Given the description of an element on the screen output the (x, y) to click on. 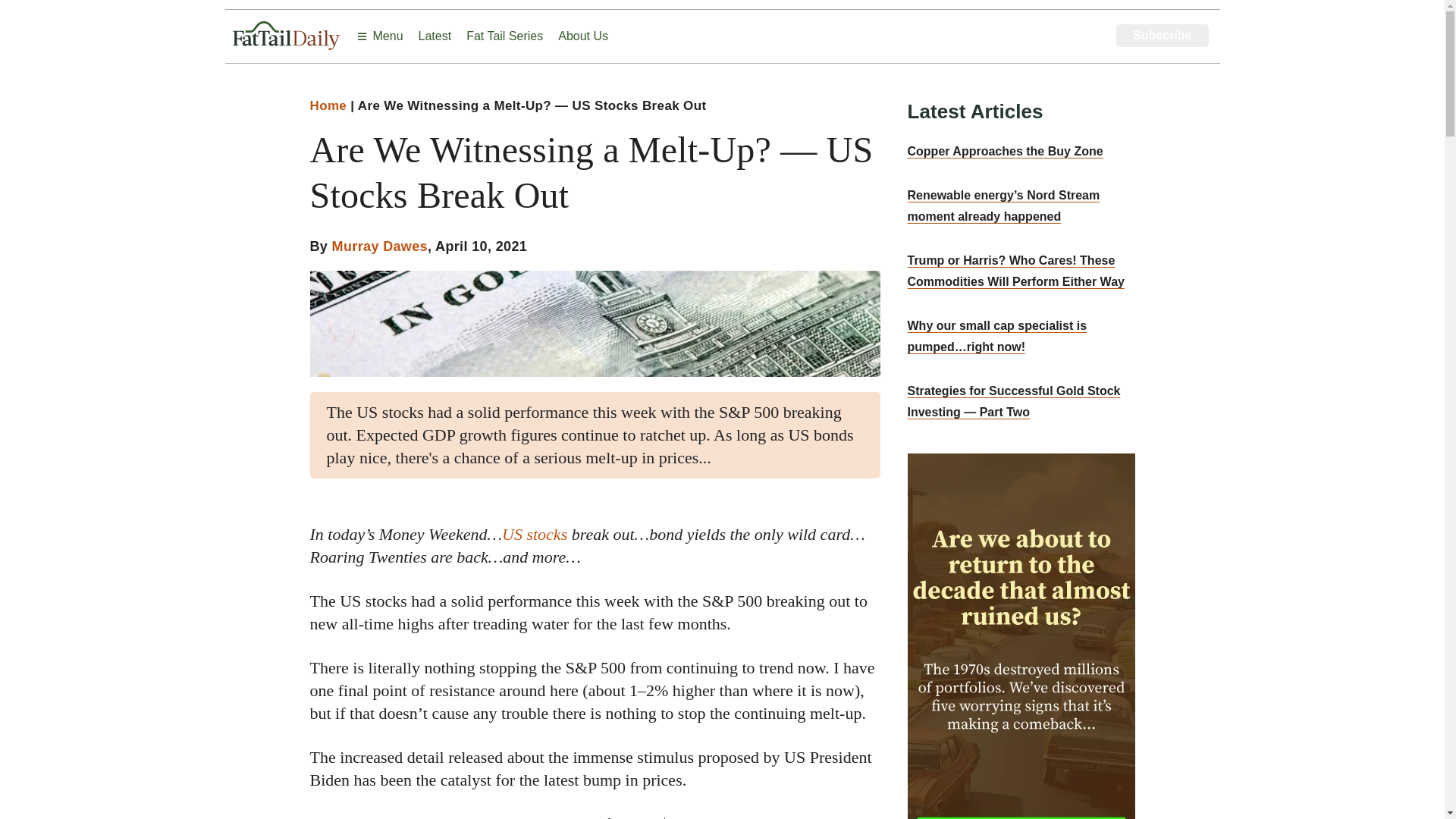
Menu (379, 36)
